Given the description of an element on the screen output the (x, y) to click on. 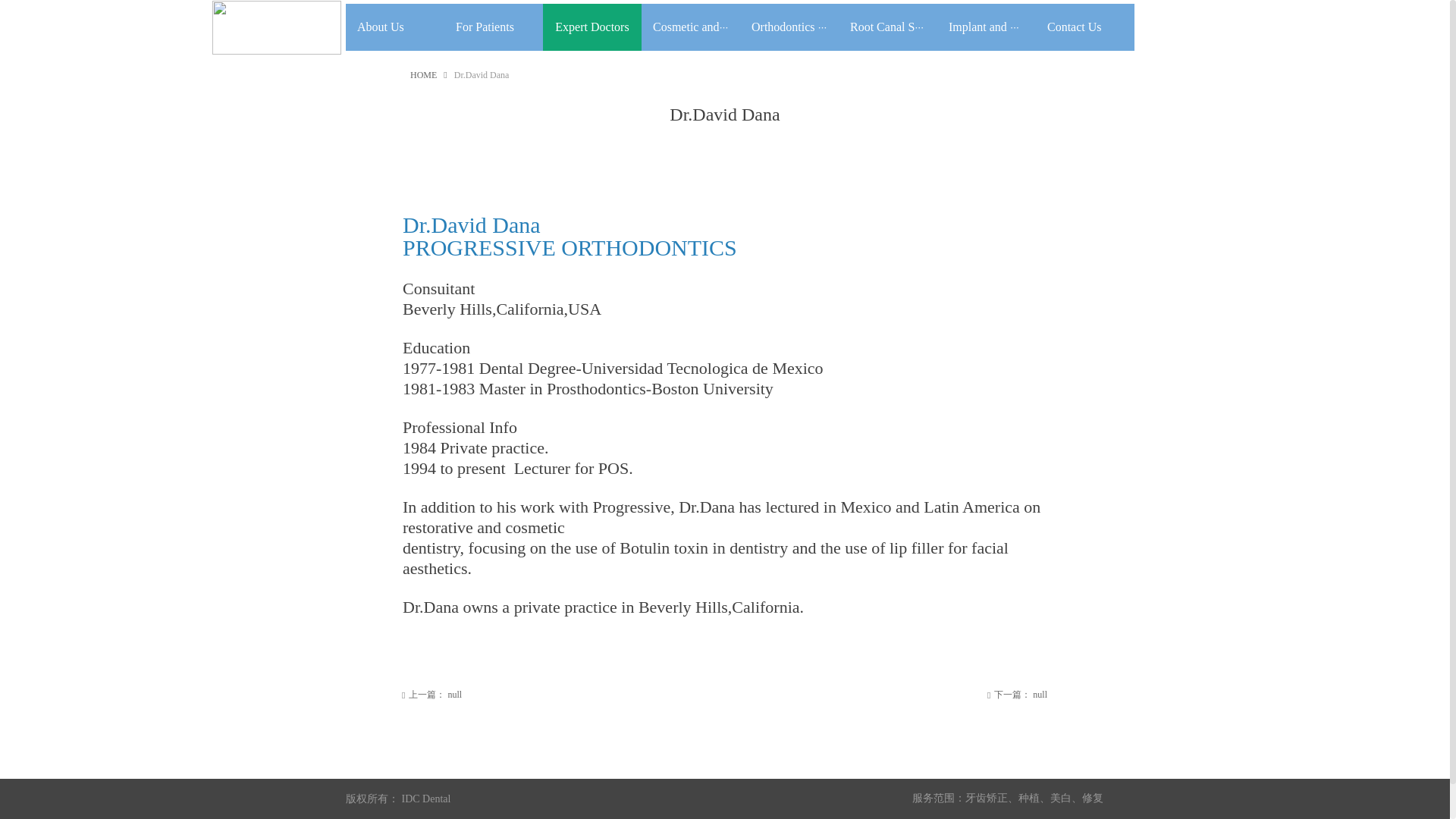
Cosmetic and Family Dentistry (690, 27)
For Patients (493, 27)
Expert Doctors (592, 27)
About Us (395, 27)
